Given the description of an element on the screen output the (x, y) to click on. 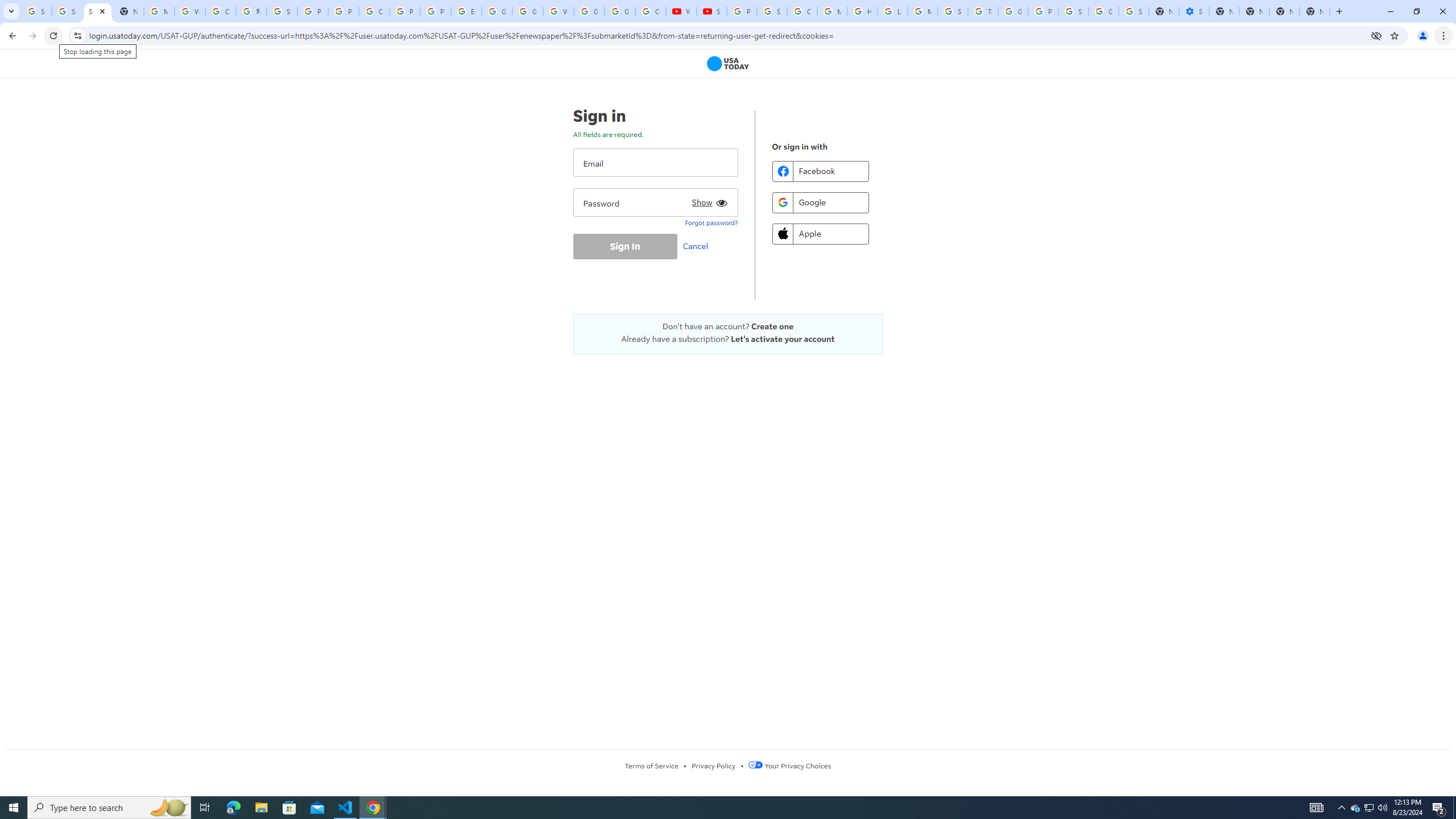
Create your Google Account (220, 11)
Apple (820, 233)
YouTube (681, 11)
Create your Google Account (373, 11)
Sign in - Google Accounts (1133, 11)
 Your Privacy Choices (789, 765)
